Given the description of an element on the screen output the (x, y) to click on. 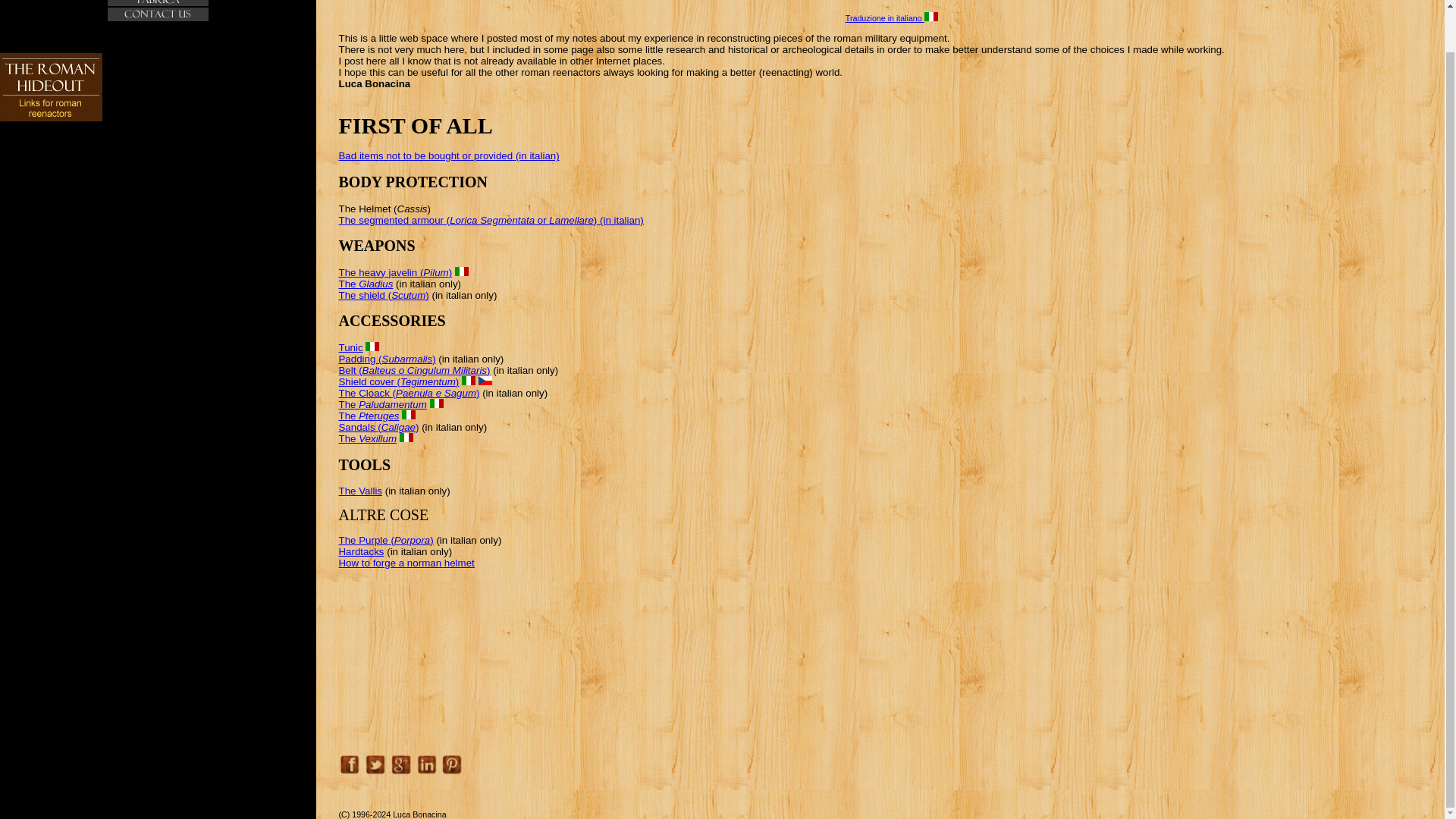
traduzione in italiano (405, 437)
The Vexillum (366, 438)
Tunic (349, 347)
The Pteruges (367, 415)
traduzione in italiano (407, 414)
Share on Twitter (375, 763)
Hardtacks (360, 551)
traduzione in italiano (461, 271)
traduzione in italiano (436, 402)
Traduzione in italiano (891, 17)
The Paludamentum (381, 404)
How to forge a norman helmet (405, 562)
Pin on Pinterest (452, 763)
The Gladius (365, 283)
Share on LinkedIn (426, 763)
